Given the description of an element on the screen output the (x, y) to click on. 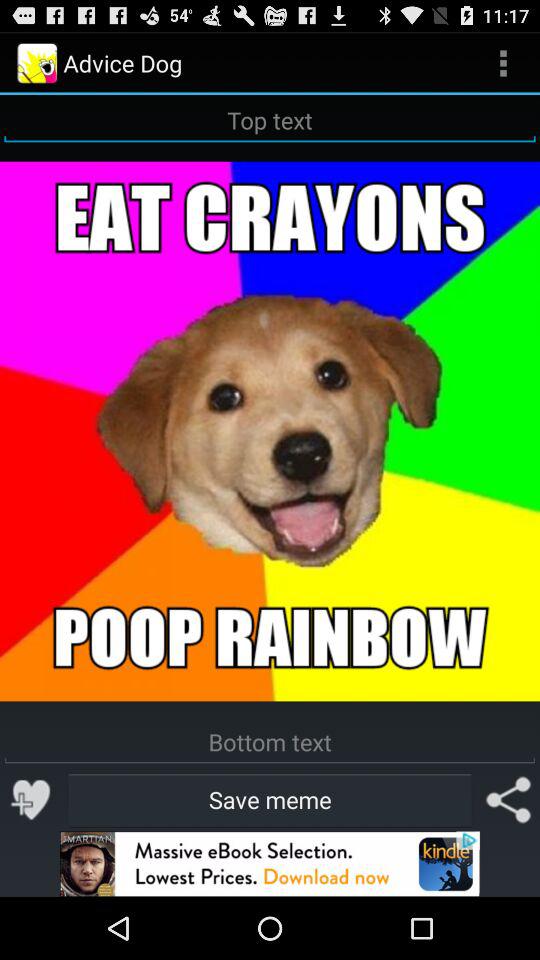
favourite (31, 799)
